Given the description of an element on the screen output the (x, y) to click on. 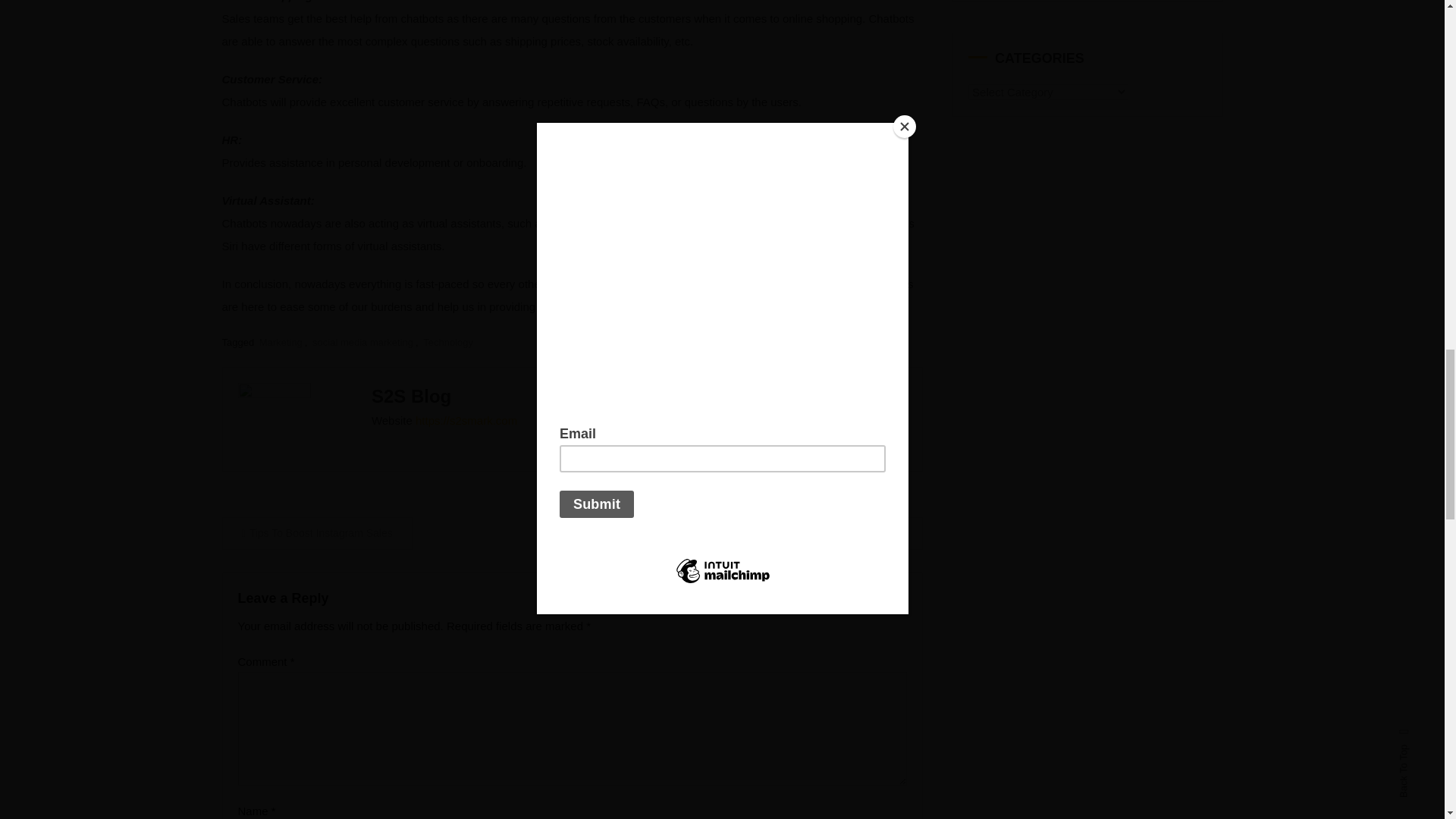
Posts by S2S Blog (411, 395)
The Ultimate Guide to Social Media Ad Formats (786, 532)
Tips To Boost Instagram Sales (316, 532)
S2S Blog (411, 395)
social media marketing (363, 342)
Marketing (280, 342)
Technology (448, 342)
